Given the description of an element on the screen output the (x, y) to click on. 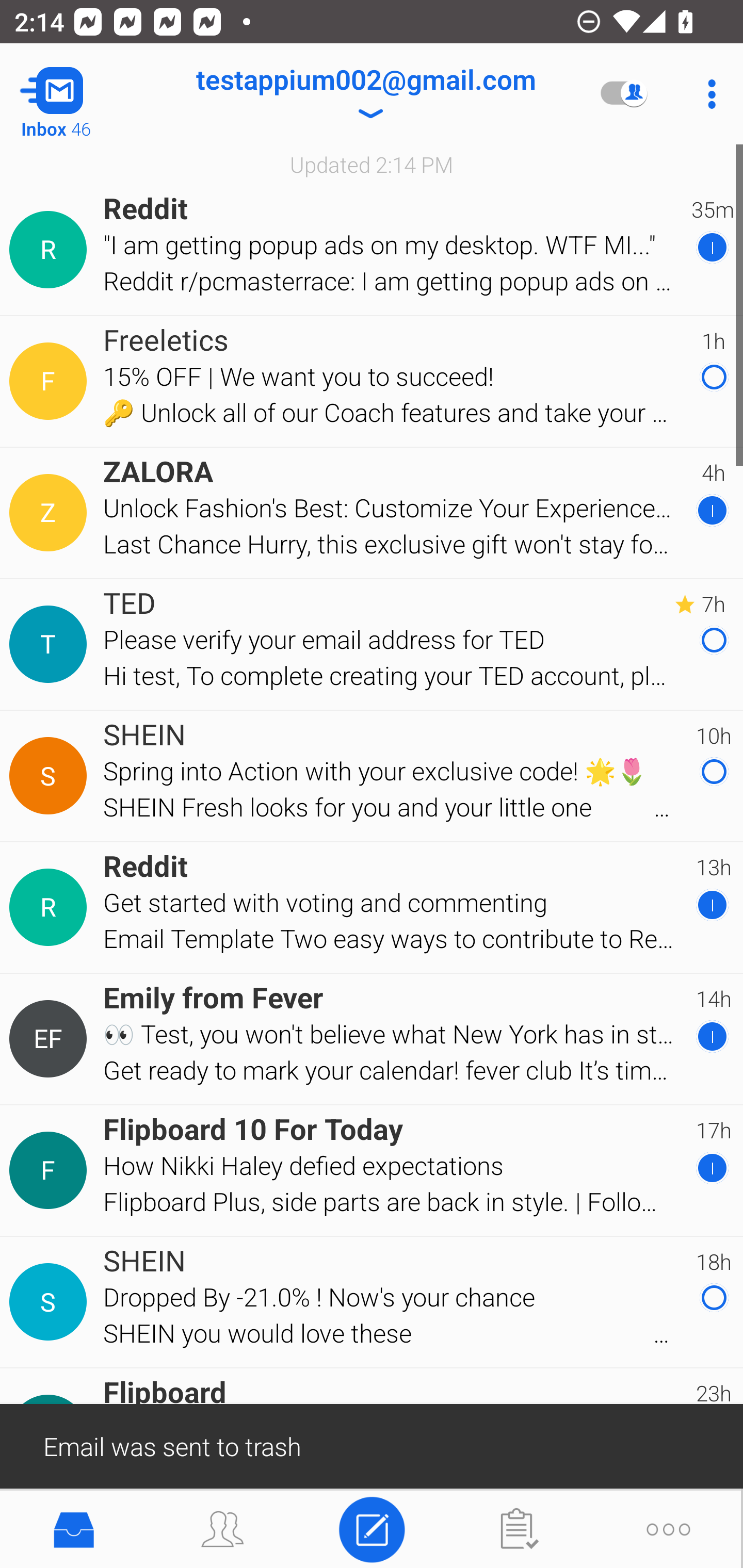
Navigate up (81, 93)
testappium002@gmail.com (365, 93)
More Options (706, 93)
Updated 2:14 PM (371, 164)
Contact Details (50, 250)
Contact Details (50, 381)
Contact Details (50, 513)
Contact Details (50, 644)
Contact Details (50, 776)
Contact Details (50, 907)
Contact Details (50, 1038)
Contact Details (50, 1170)
Contact Details (50, 1302)
Email was sent to trash (371, 1445)
Compose (371, 1528)
